Given the description of an element on the screen output the (x, y) to click on. 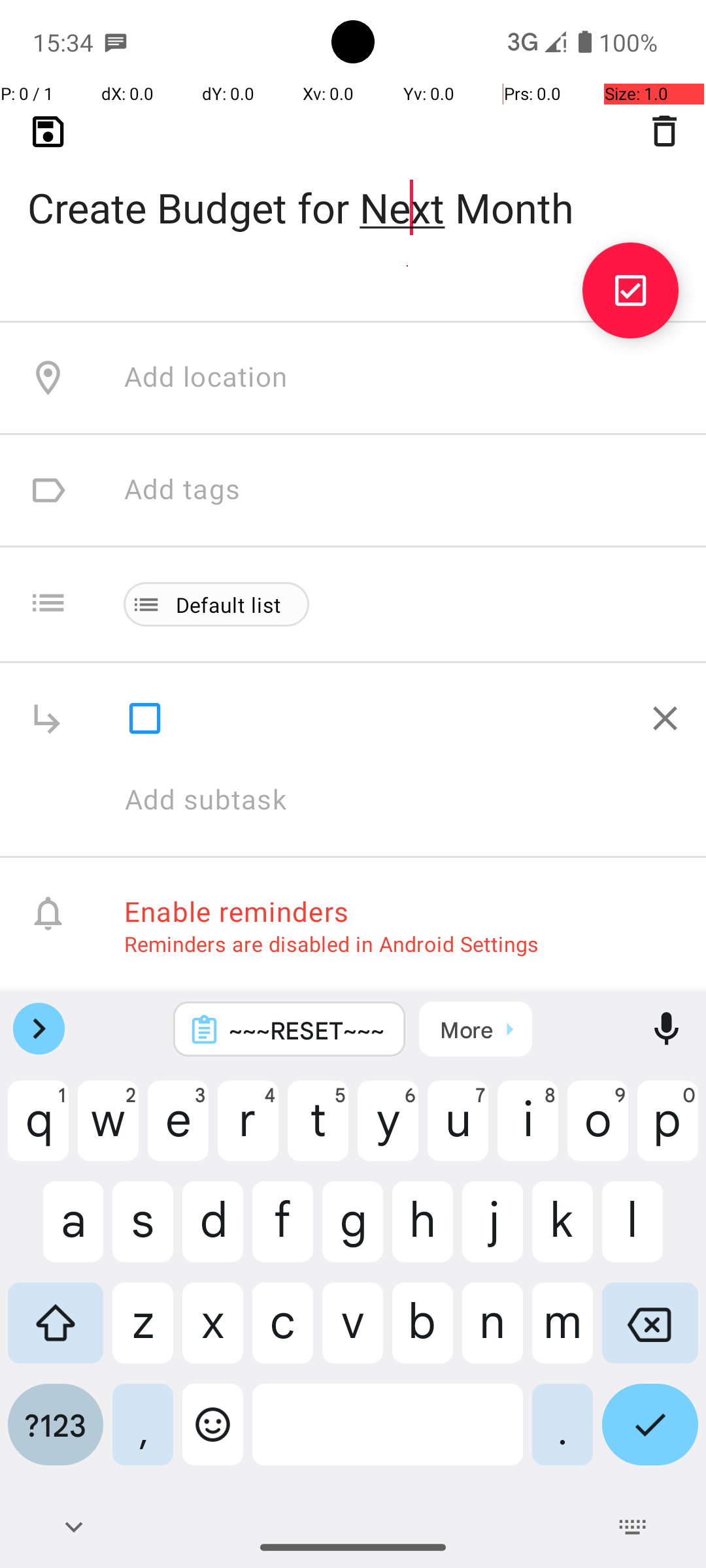
Create Budget for Next Month Element type: android.widget.EditText (353, 186)
